Given the description of an element on the screen output the (x, y) to click on. 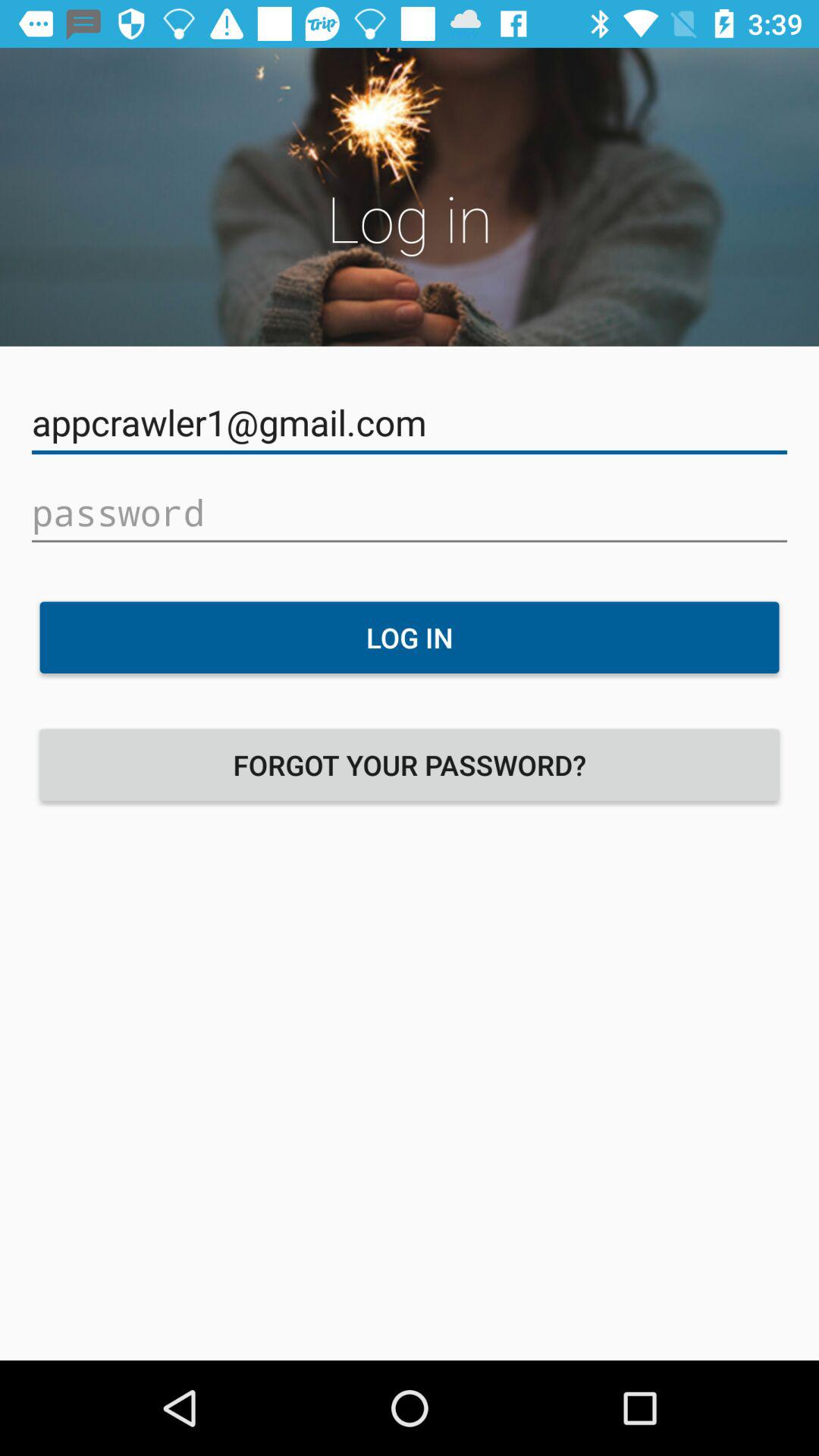
choose item below log in (409, 764)
